Given the description of an element on the screen output the (x, y) to click on. 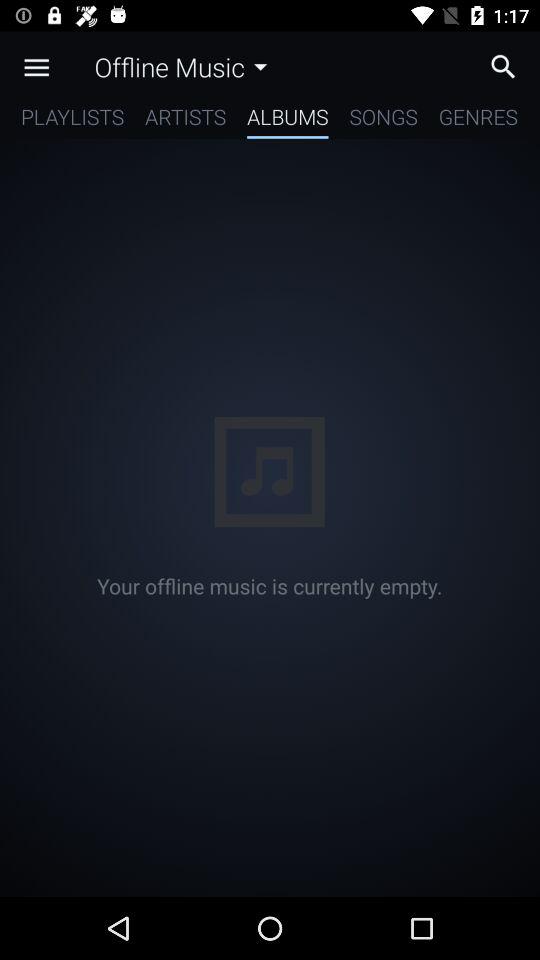
press the app next to the genres app (383, 120)
